Given the description of an element on the screen output the (x, y) to click on. 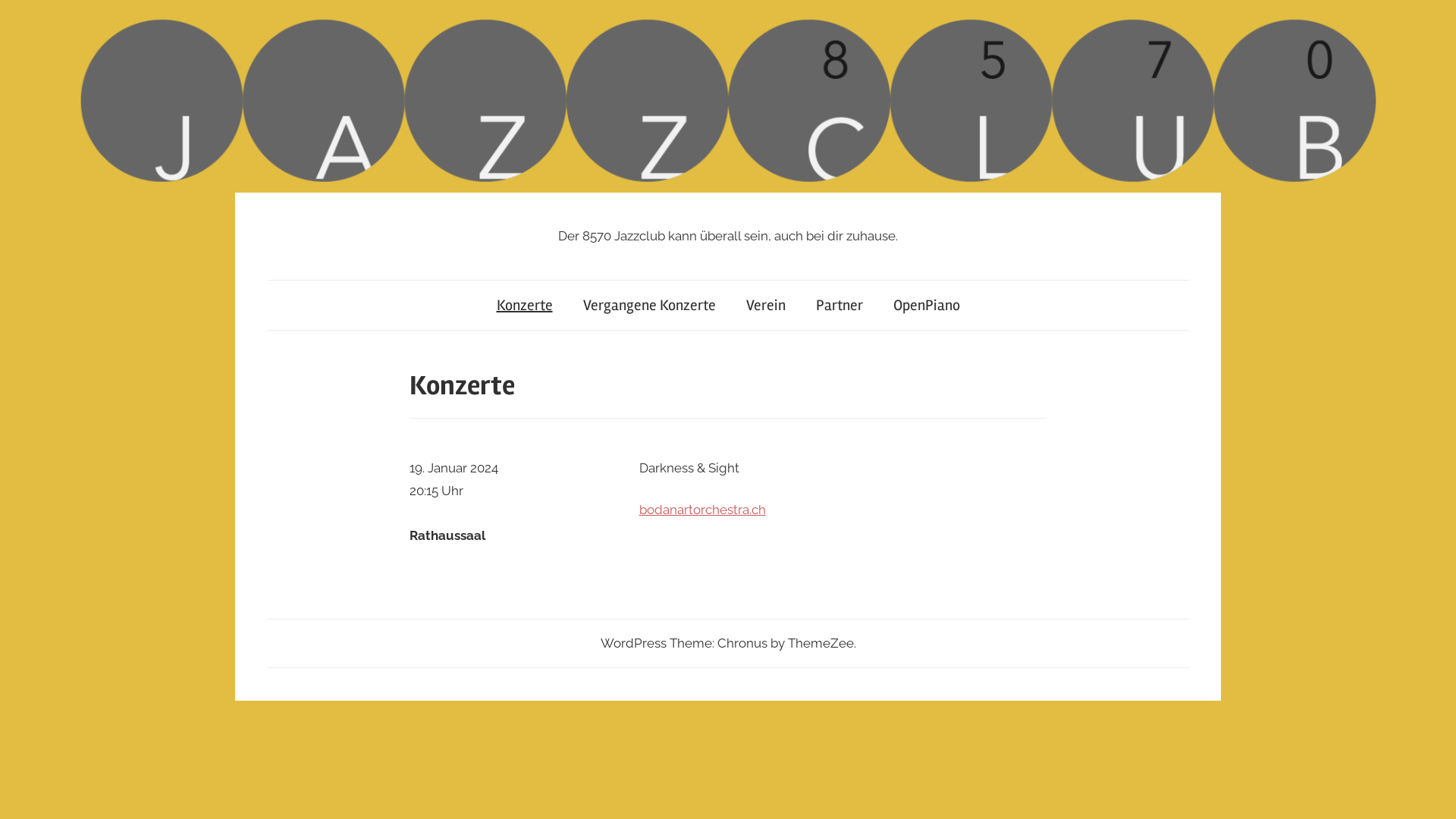
Partner Element type: text (839, 304)
Konzerte Element type: text (523, 304)
Verein Element type: text (765, 304)
bodanartorchestra.ch Element type: text (702, 509)
OpenPiano Element type: text (926, 304)
Vergangene Konzerte Element type: text (648, 304)
